Given the description of an element on the screen output the (x, y) to click on. 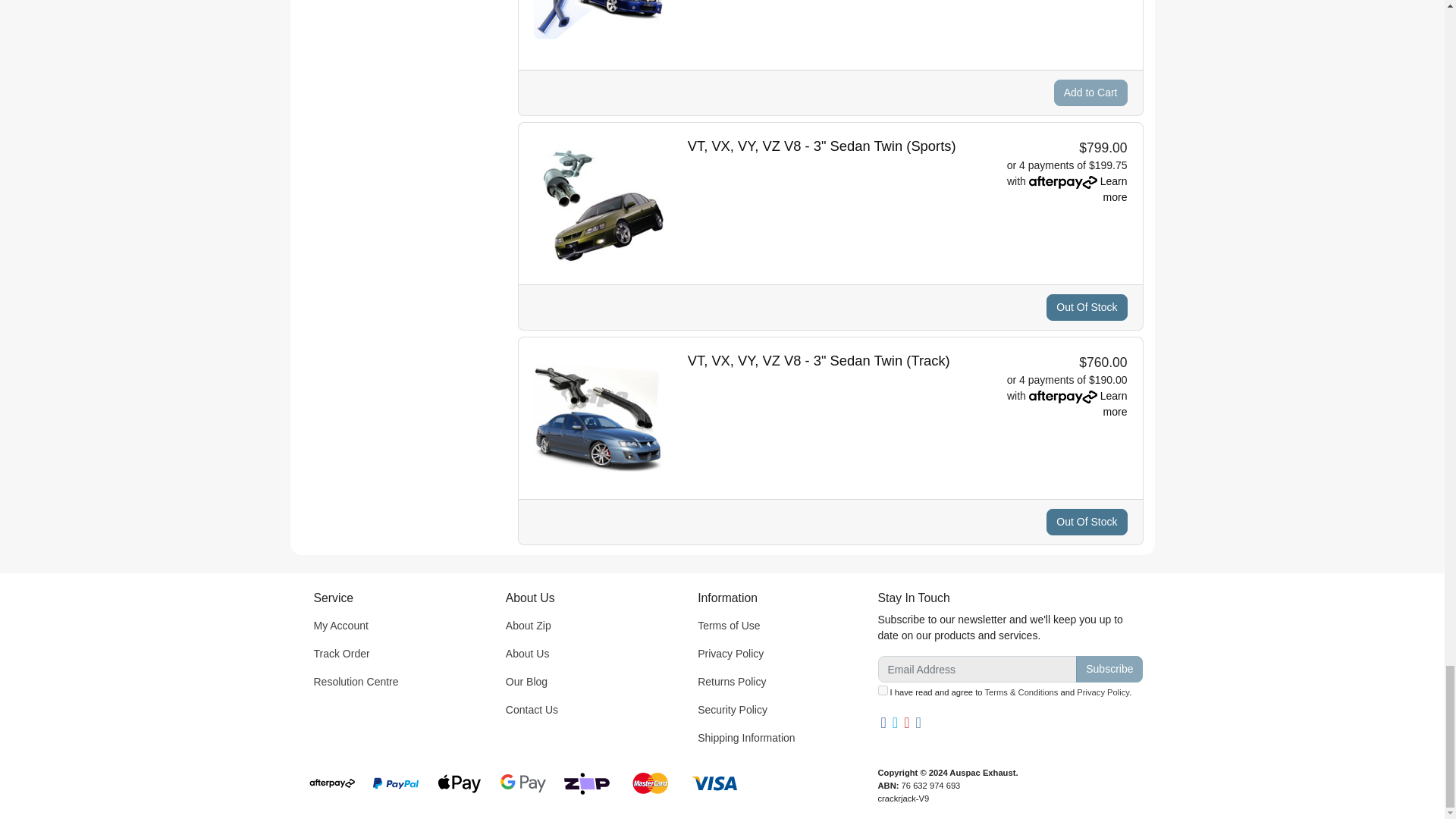
Subscribe (1108, 669)
y (882, 690)
